Given the description of an element on the screen output the (x, y) to click on. 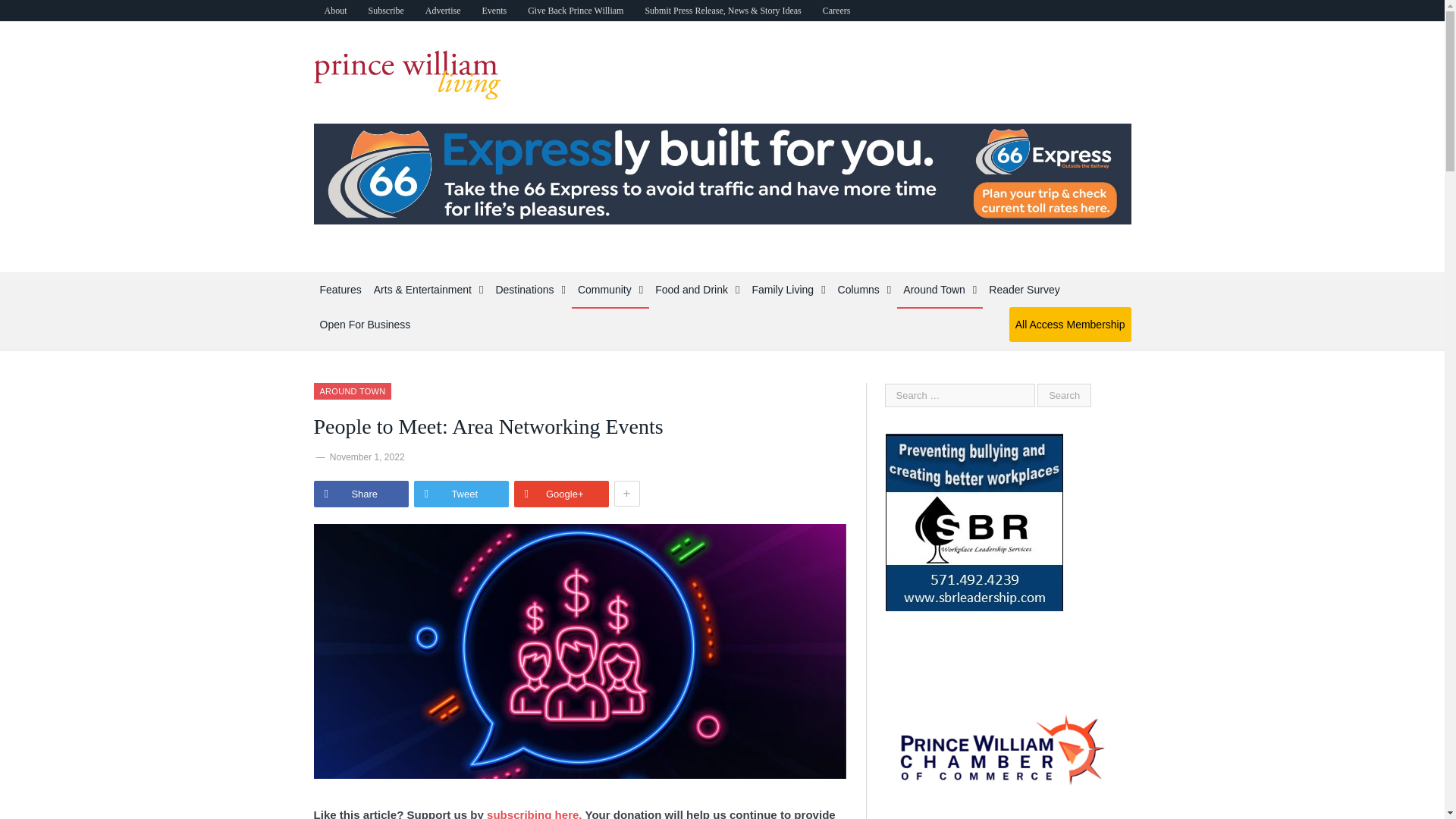
Local Prince William Events (493, 10)
Careers (836, 10)
Subscribe (386, 10)
Advertise (443, 10)
Search (1063, 395)
About (335, 10)
Prince William Living (407, 71)
Around Town (352, 390)
Search (1063, 395)
